Given the description of an element on the screen output the (x, y) to click on. 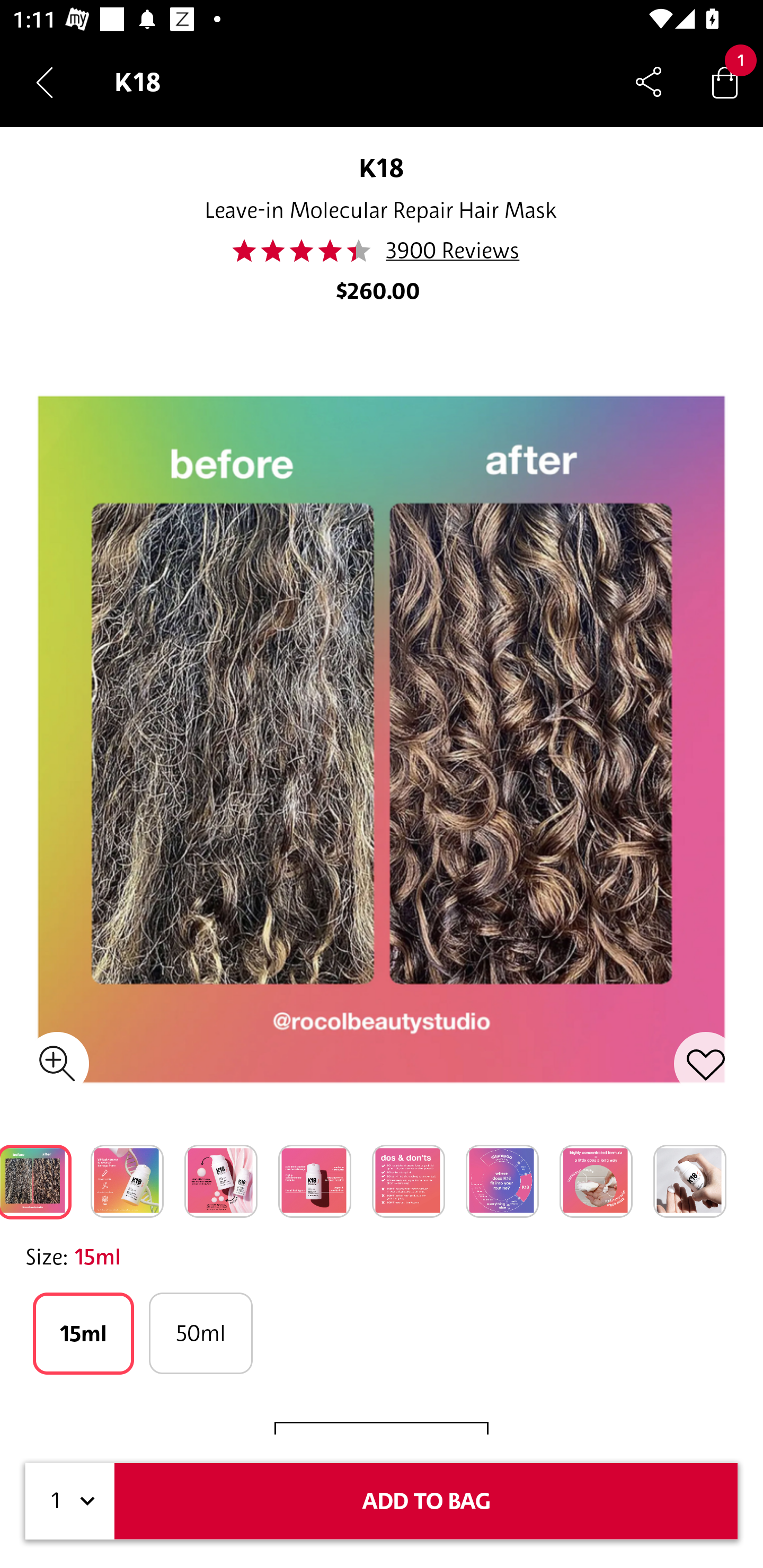
Navigate up (44, 82)
Share (648, 81)
Bag (724, 81)
K18 (381, 167)
44.0 3900 Reviews (380, 250)
15ml (83, 1333)
50ml (200, 1332)
1 (69, 1500)
ADD TO BAG (425, 1500)
